Given the description of an element on the screen output the (x, y) to click on. 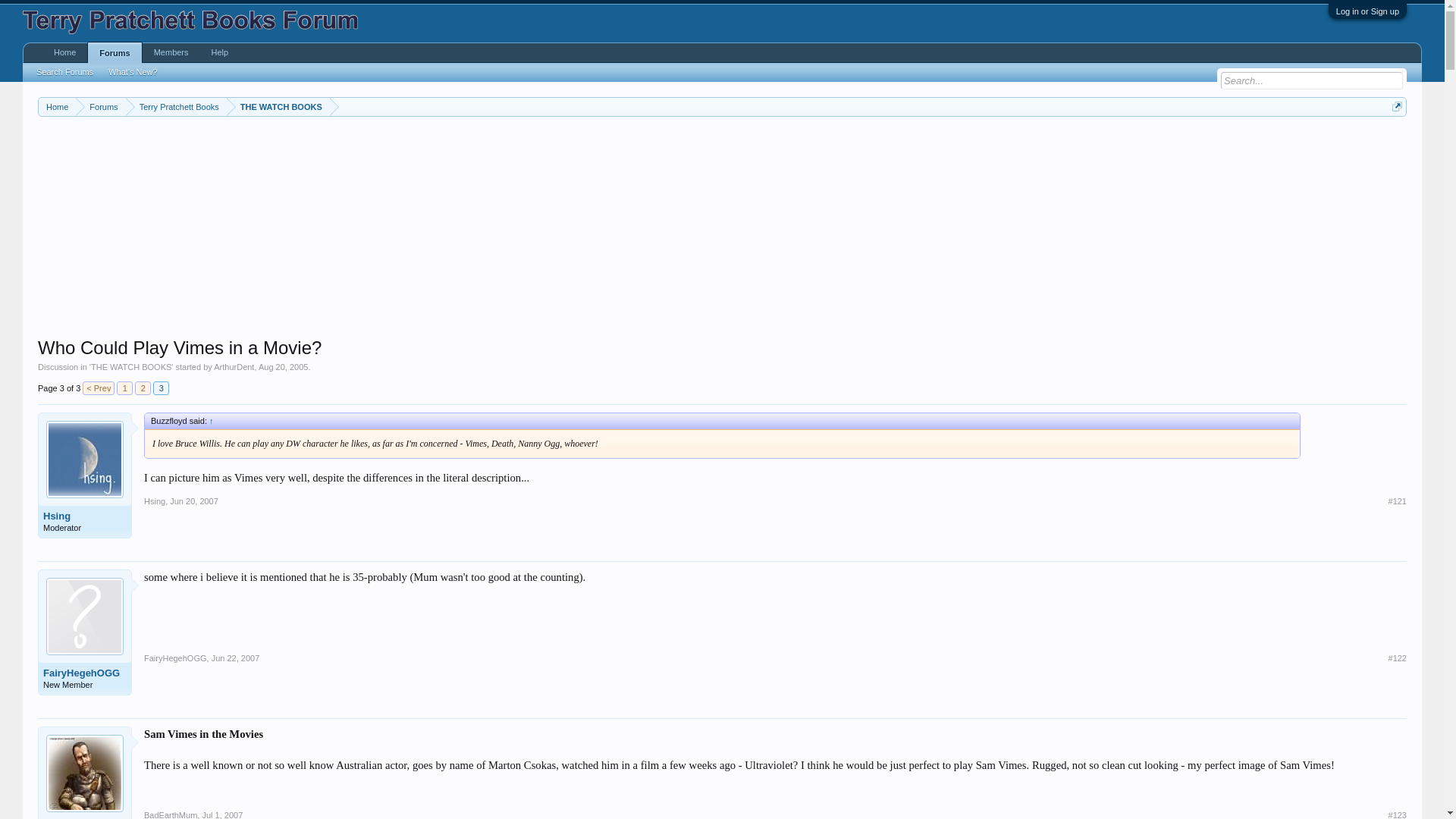
BadEarthMum (170, 814)
2 (143, 387)
Permalink (222, 814)
Open quick navigation (1396, 106)
Permalink (235, 657)
THE WATCH BOOKS (130, 366)
Hsing (84, 516)
Terry Pratchett Books (176, 107)
Jul 1, 2007 (222, 814)
FairyHegehOGG (175, 657)
Permalink (194, 501)
Jun 20, 2007 (194, 501)
Home (57, 107)
ArthurDent (233, 366)
THE WATCH BOOKS (278, 107)
